Given the description of an element on the screen output the (x, y) to click on. 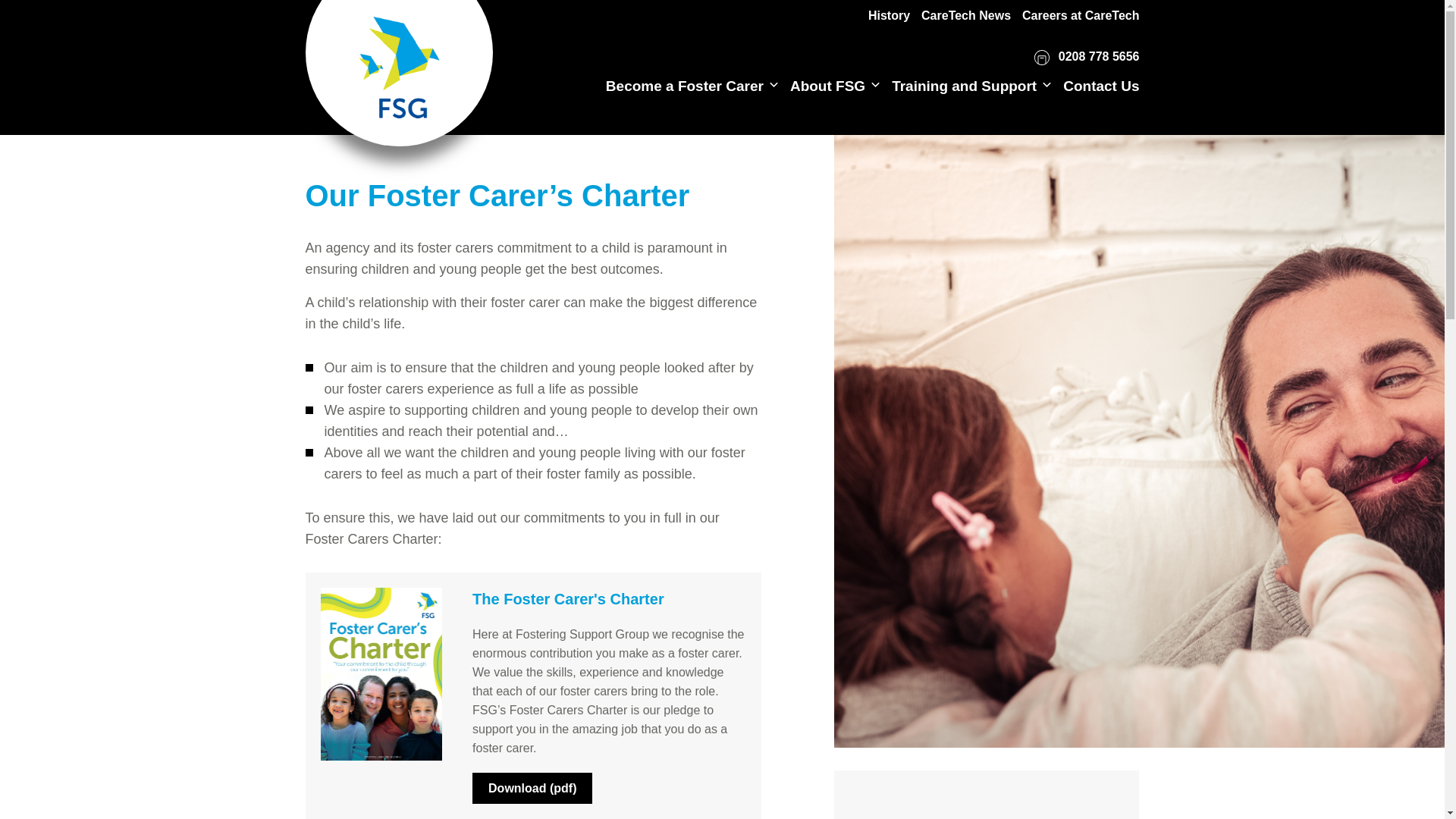
CareTech News (965, 15)
Fostering Support Group (398, 59)
0208 778 5656 (1085, 58)
History (888, 15)
History (888, 15)
Training and Support (963, 85)
Become a Foster Carer (683, 85)
About FSG (827, 85)
Become a Foster Carer (683, 85)
Contact Us (1100, 85)
